Given the description of an element on the screen output the (x, y) to click on. 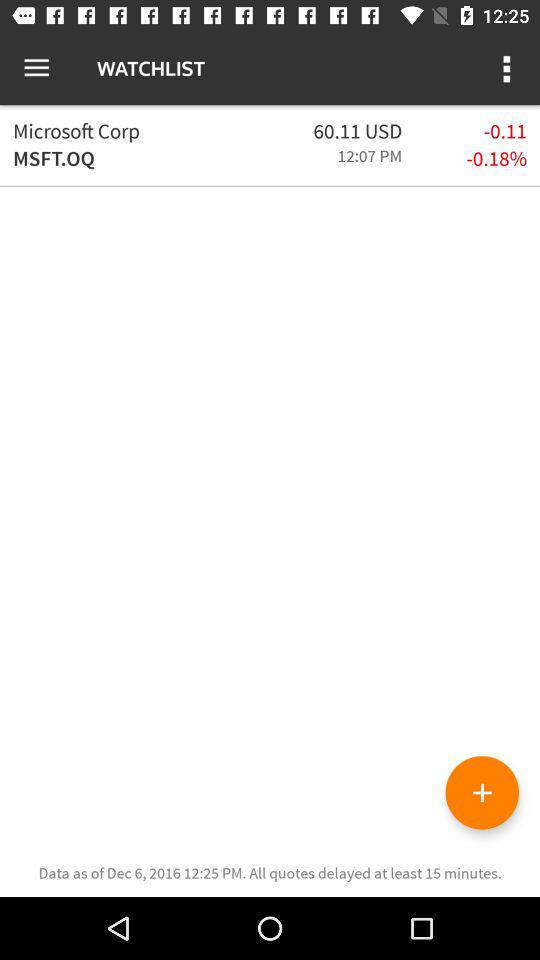
add a stock (482, 792)
